Given the description of an element on the screen output the (x, y) to click on. 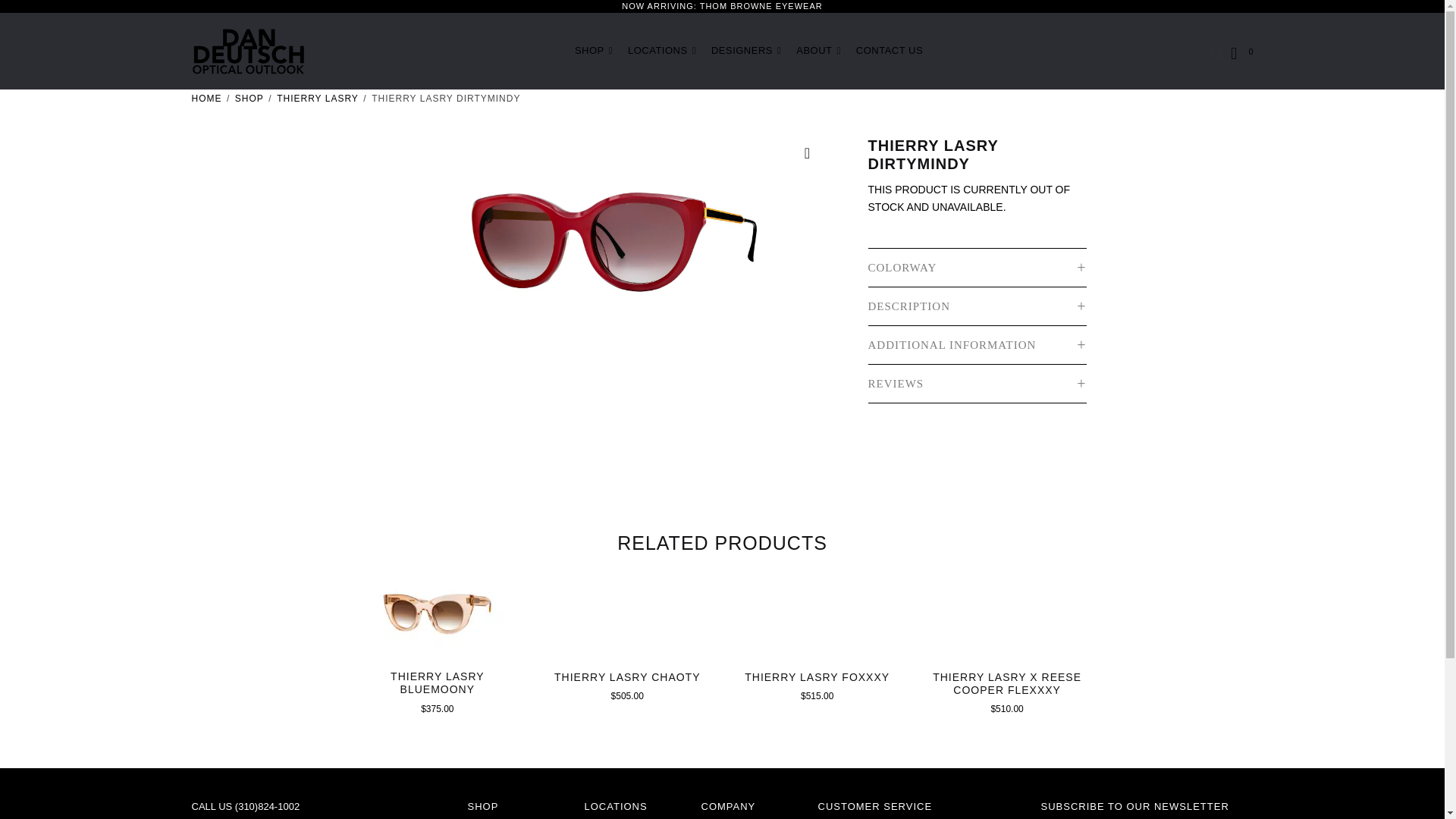
Thierry Lasry Dirtymindy in Burgundy Red (594, 251)
LOCATIONS (661, 51)
SHOP (593, 51)
DESIGNERS (746, 51)
